Given the description of an element on the screen output the (x, y) to click on. 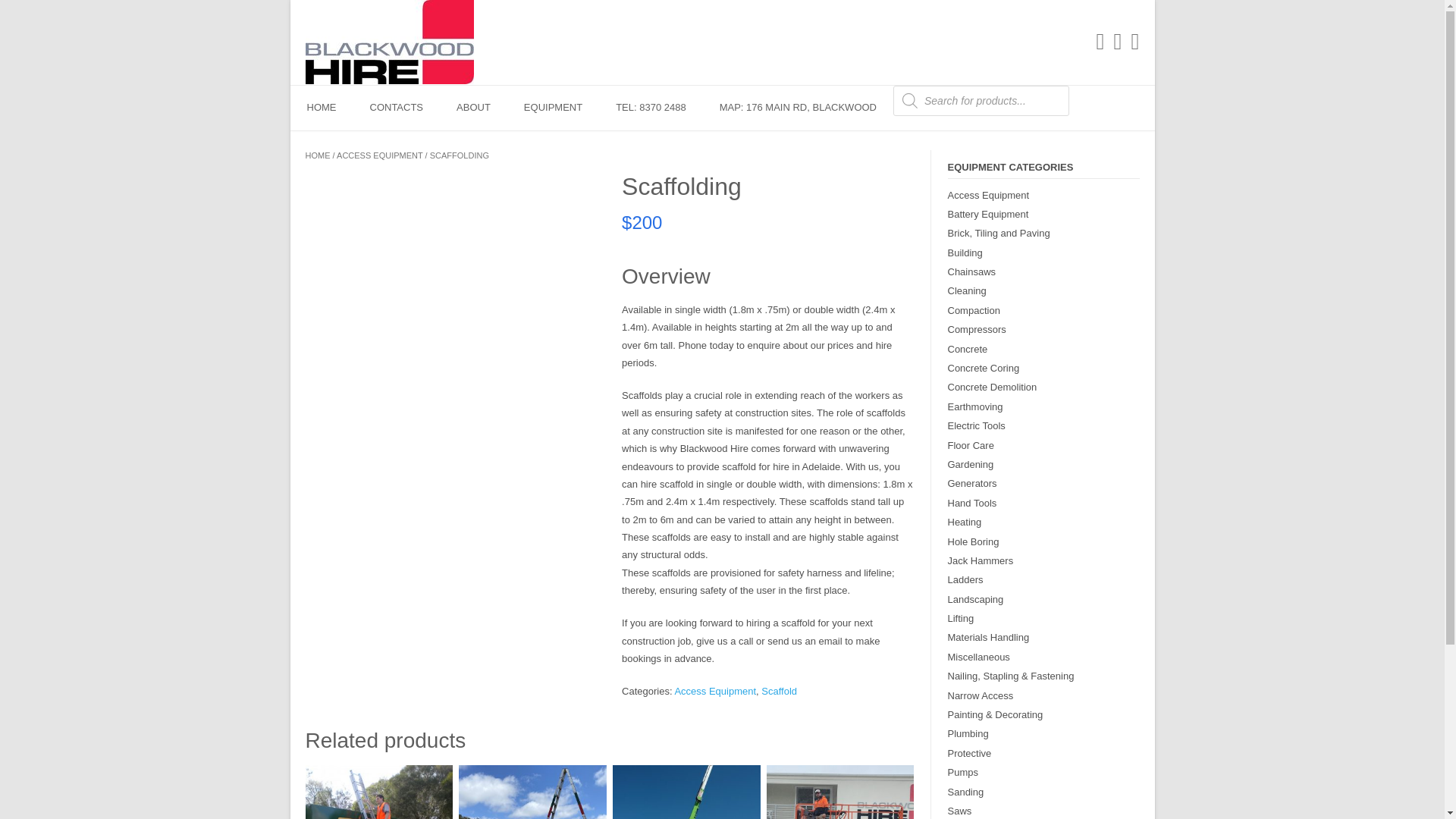
Blackwood Hire (388, 42)
Access Equipment (714, 690)
ABOUT (472, 107)
Electric Tools (976, 425)
Earthmoving (975, 406)
HOME (320, 107)
HOME (317, 153)
CONTACTS (397, 107)
Floor Care (970, 445)
MAP: 176 MAIN RD, BLACKWOOD (798, 107)
